Given the description of an element on the screen output the (x, y) to click on. 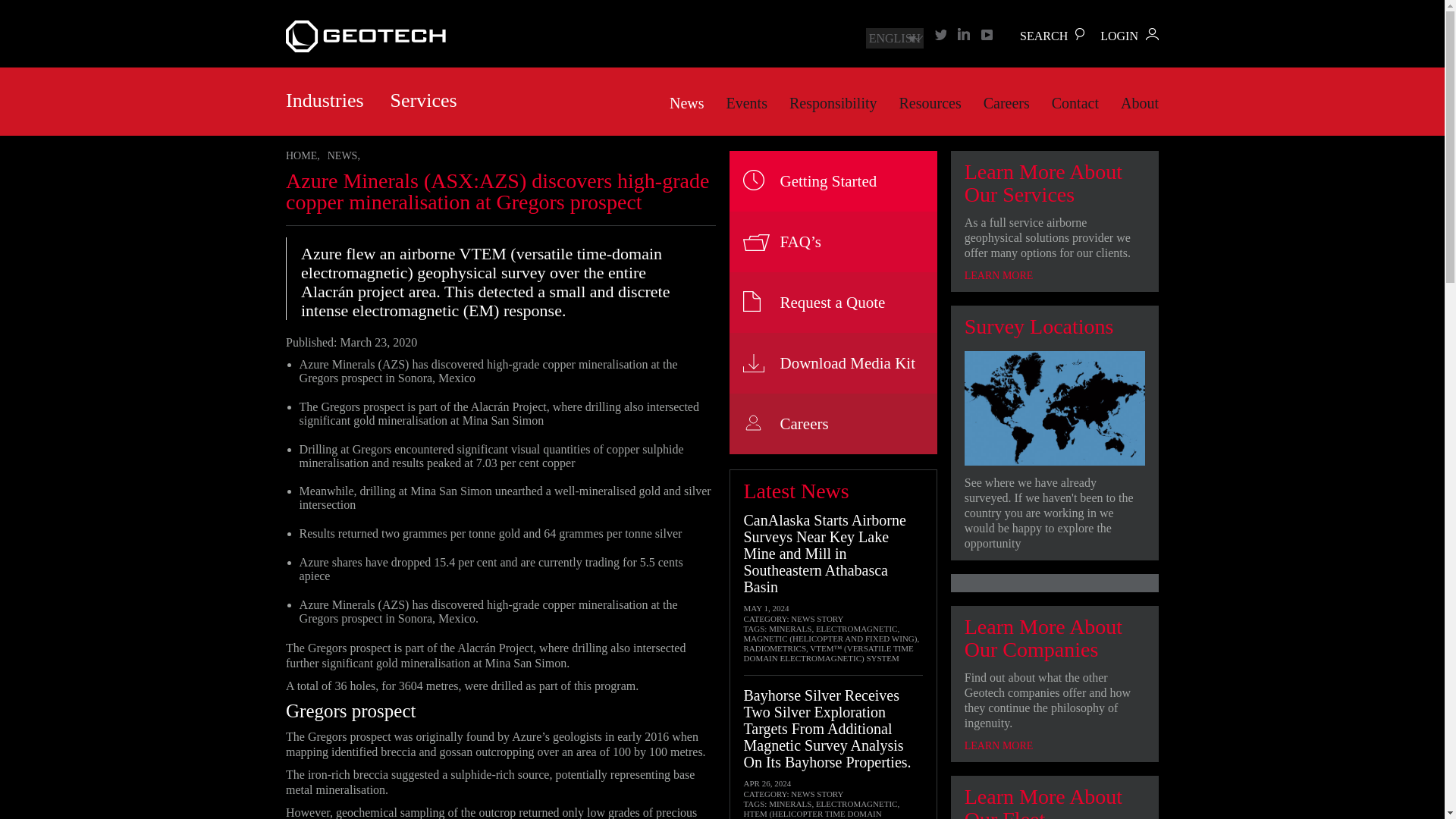
CHECK US OUT ON LINKEDIN (963, 33)
SEARCH (1043, 35)
WATCH US ON YOUTUBE (986, 33)
NEWS, (343, 155)
LinkedIn (963, 33)
Services (423, 100)
YouTube (986, 33)
About (1139, 103)
LOGIN (1129, 35)
Login (1129, 35)
Industries (324, 100)
Contact (1075, 103)
HOME, (302, 155)
ENGLISH (894, 37)
Search (1043, 35)
